Given the description of an element on the screen output the (x, y) to click on. 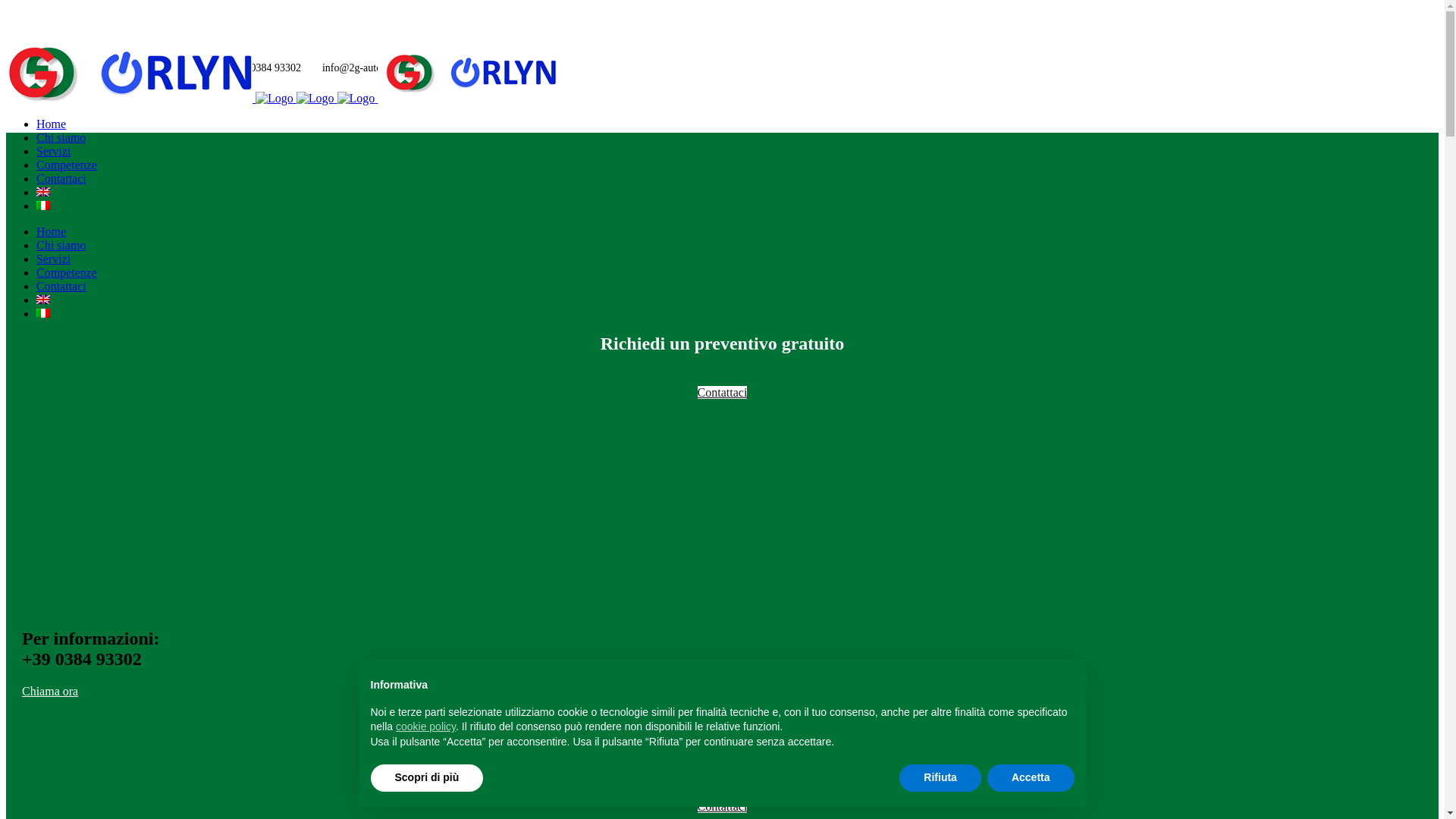
English Element type: hover (43, 191)
Contattaci Element type: text (61, 285)
English Element type: hover (43, 299)
Home Element type: text (50, 123)
Contattaci Element type: text (722, 806)
Home Element type: text (50, 231)
Contattaci Element type: text (722, 391)
cookie policy Element type: text (425, 726)
Contattaci Element type: text (61, 178)
Chiama ora Element type: text (49, 690)
Servizi Element type: text (53, 150)
Competenze Element type: text (66, 272)
Italiano Element type: hover (43, 312)
Italiano Element type: hover (43, 205)
Competenze Element type: text (66, 164)
Chi siamo Element type: text (60, 244)
Accetta Element type: text (1030, 777)
Chi siamo Element type: text (60, 137)
Rifiuta Element type: text (940, 777)
Servizi Element type: text (53, 258)
